Given the description of an element on the screen output the (x, y) to click on. 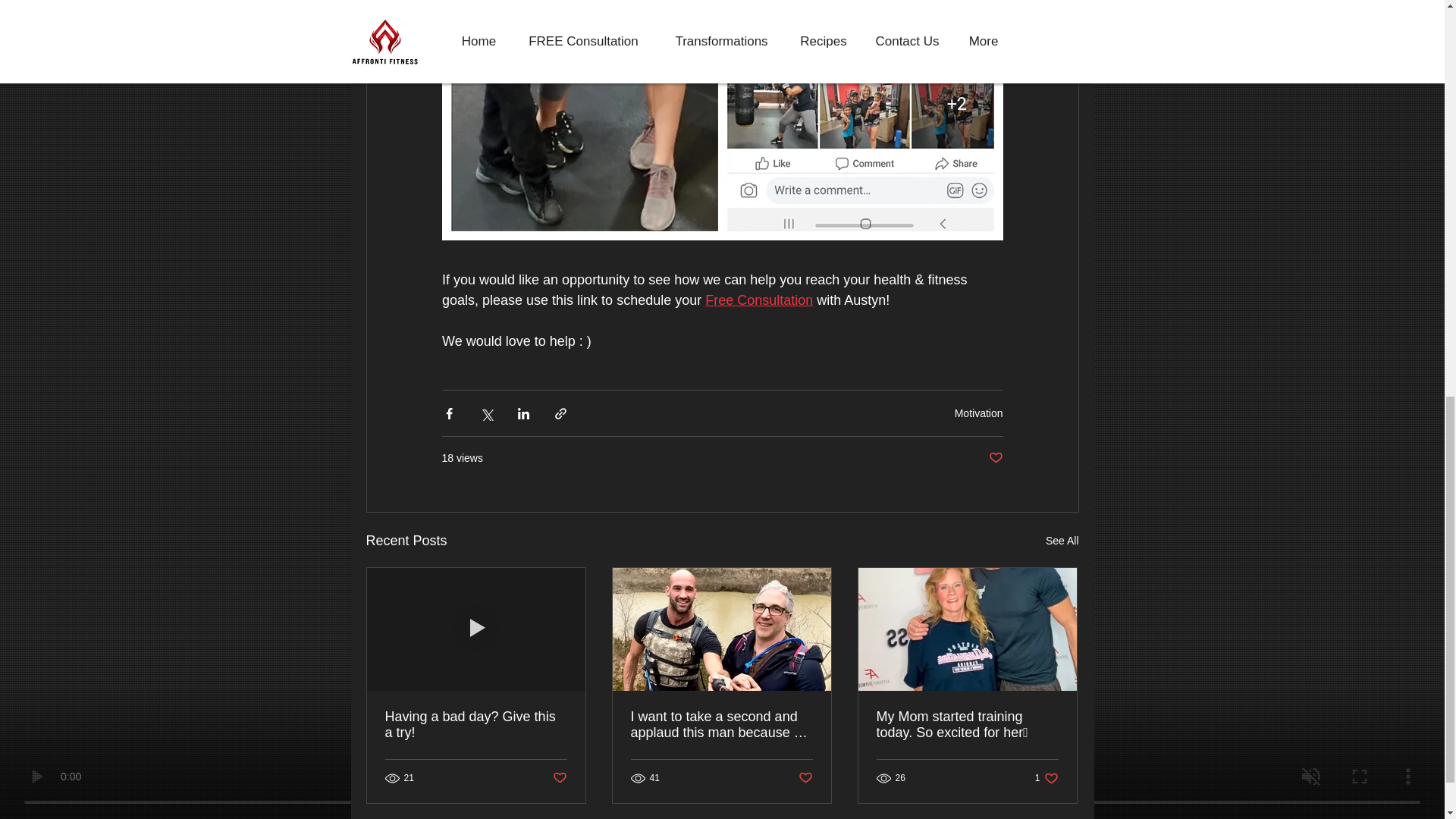
Having a bad day? Give this a try! (476, 725)
See All (1061, 540)
Free Consultation (1046, 777)
Post not marked as liked (758, 299)
Motivation (558, 778)
Post not marked as liked (979, 412)
Post not marked as liked (804, 778)
